Given the description of an element on the screen output the (x, y) to click on. 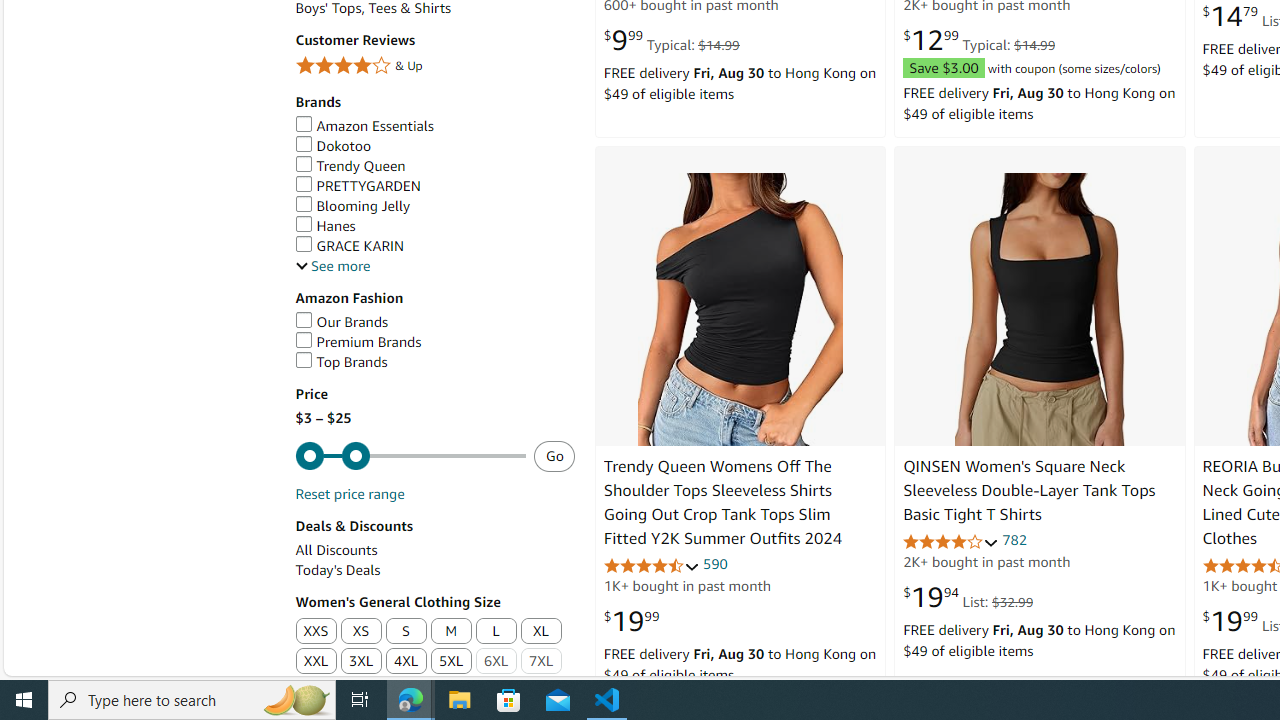
Our Brands (434, 322)
Our Brands (341, 321)
7XL (540, 662)
4XL (406, 661)
Hanes (324, 226)
$19.99 (631, 621)
$12.99 Typical: $14.99 (979, 40)
4 Stars & Up& Up (434, 67)
XXL (315, 662)
XS (362, 632)
Premium Brands (358, 341)
Minimum (410, 456)
